Given the description of an element on the screen output the (x, y) to click on. 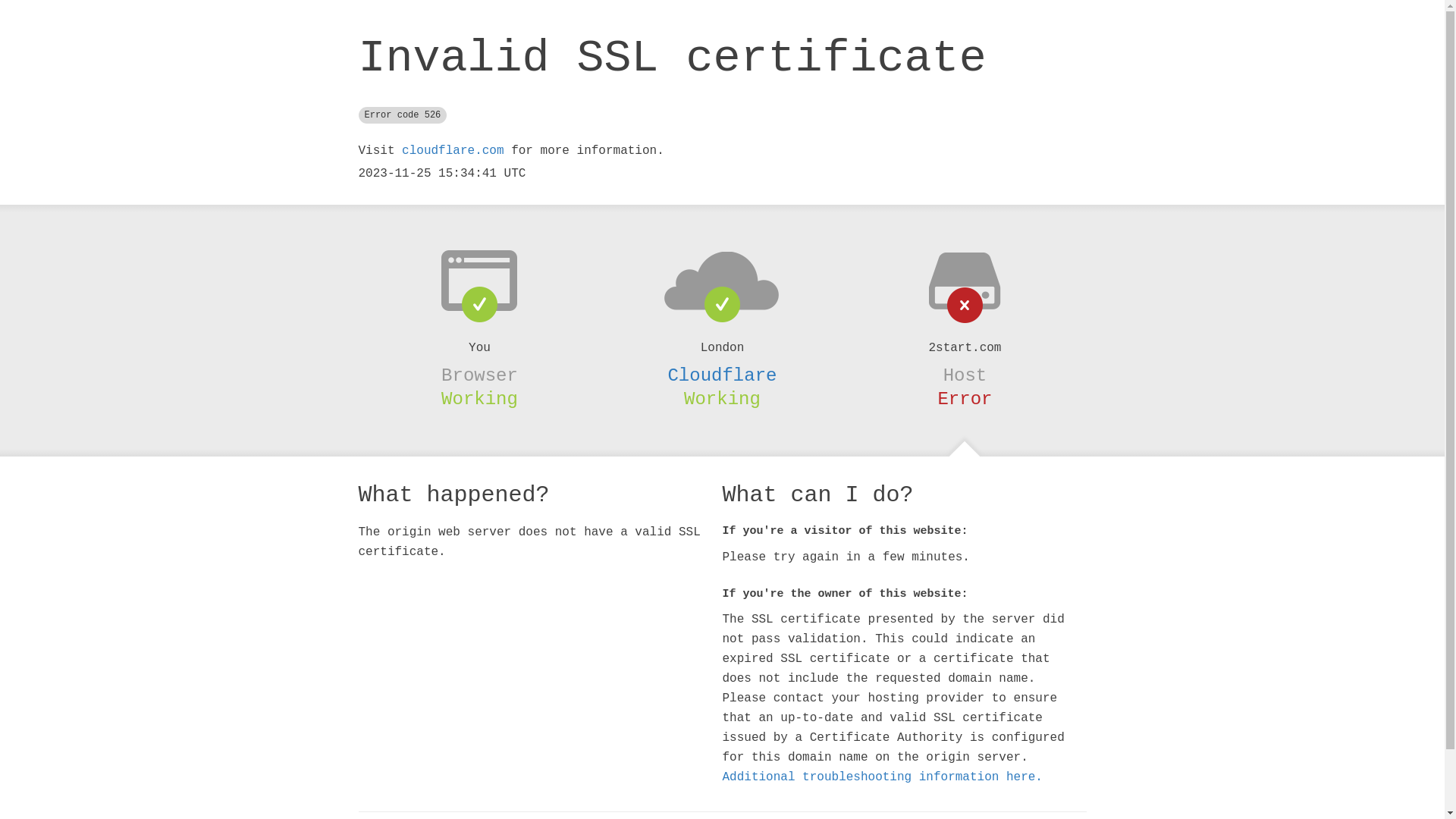
Additional troubleshooting information here. Element type: text (881, 777)
Cloudflare Element type: text (721, 375)
cloudflare.com Element type: text (452, 150)
